Given the description of an element on the screen output the (x, y) to click on. 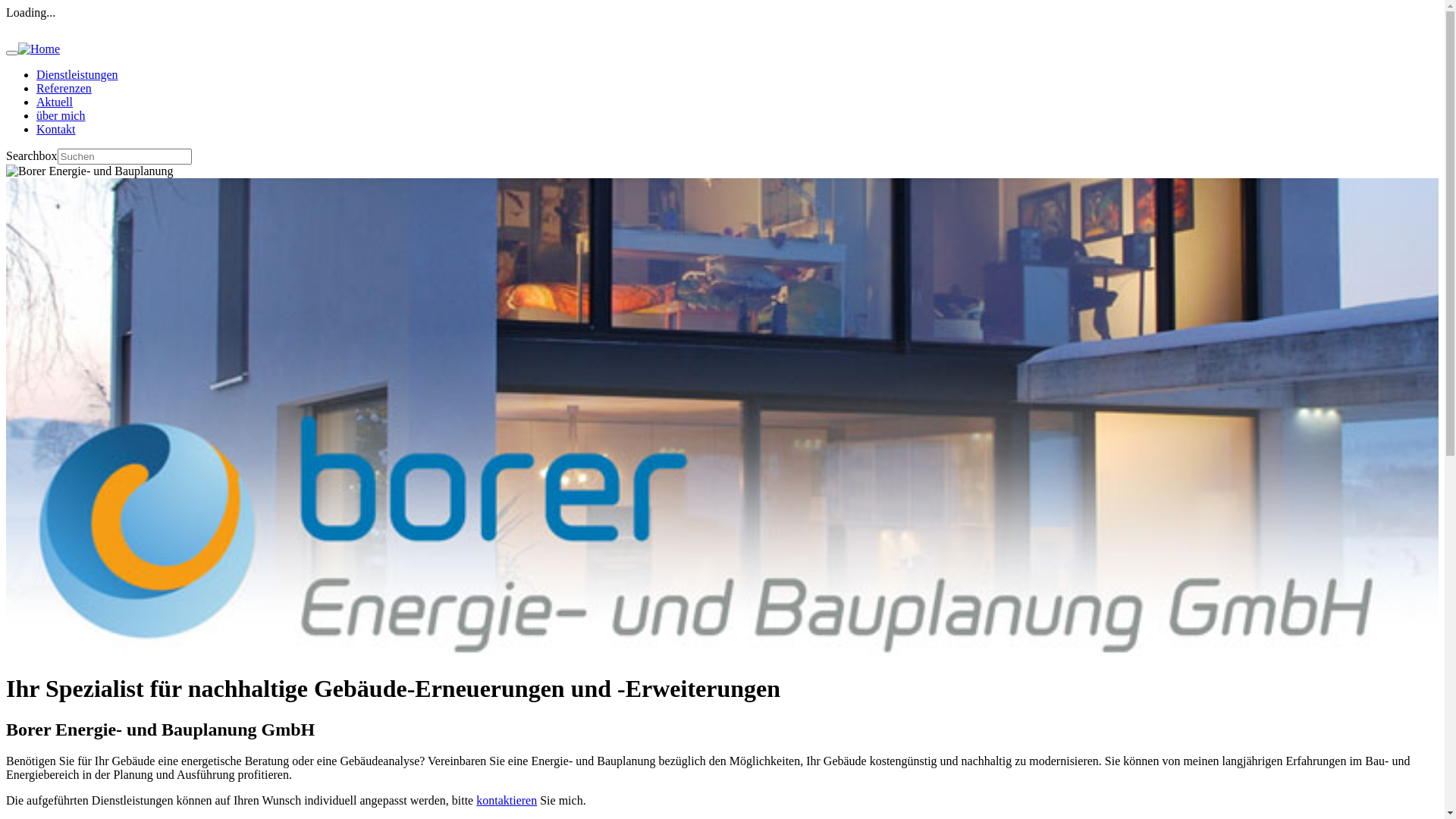
Dienstleistungen Element type: text (77, 74)
Referenzen Element type: text (63, 87)
kontaktieren Element type: text (506, 799)
Home borer Energie- und Bauplanung Element type: hover (38, 49)
Aktuell Element type: text (54, 101)
Kontakt Element type: text (55, 128)
